Given the description of an element on the screen output the (x, y) to click on. 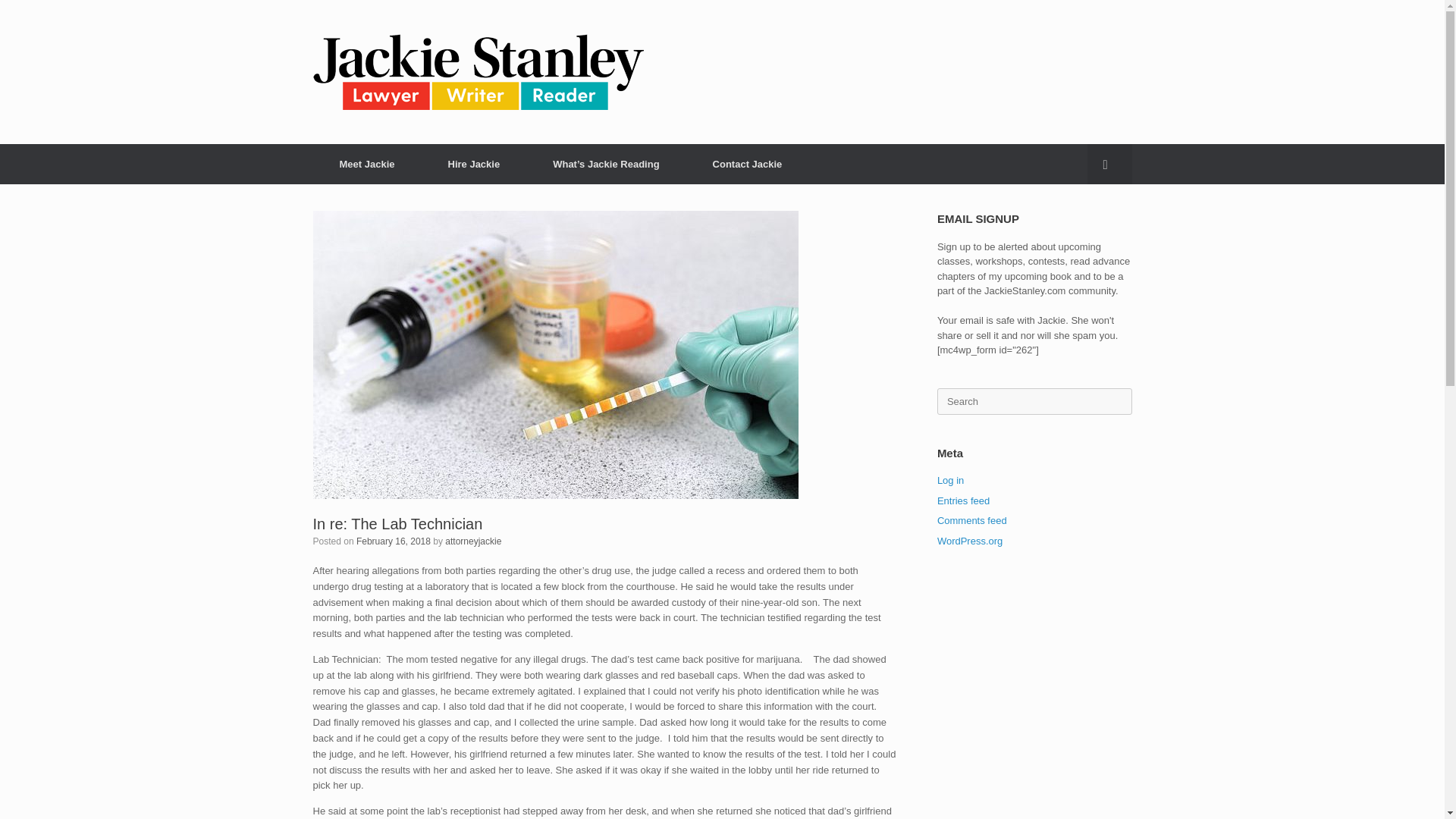
attorneyjackie (472, 541)
Meet Jackie (366, 164)
Comments feed (972, 520)
Log in (950, 480)
WordPress.org (970, 541)
Contact Jackie (747, 164)
February 16, 2018 (393, 541)
View all posts by attorneyjackie (472, 541)
Entries feed (963, 500)
10:10 pm (393, 541)
